Given the description of an element on the screen output the (x, y) to click on. 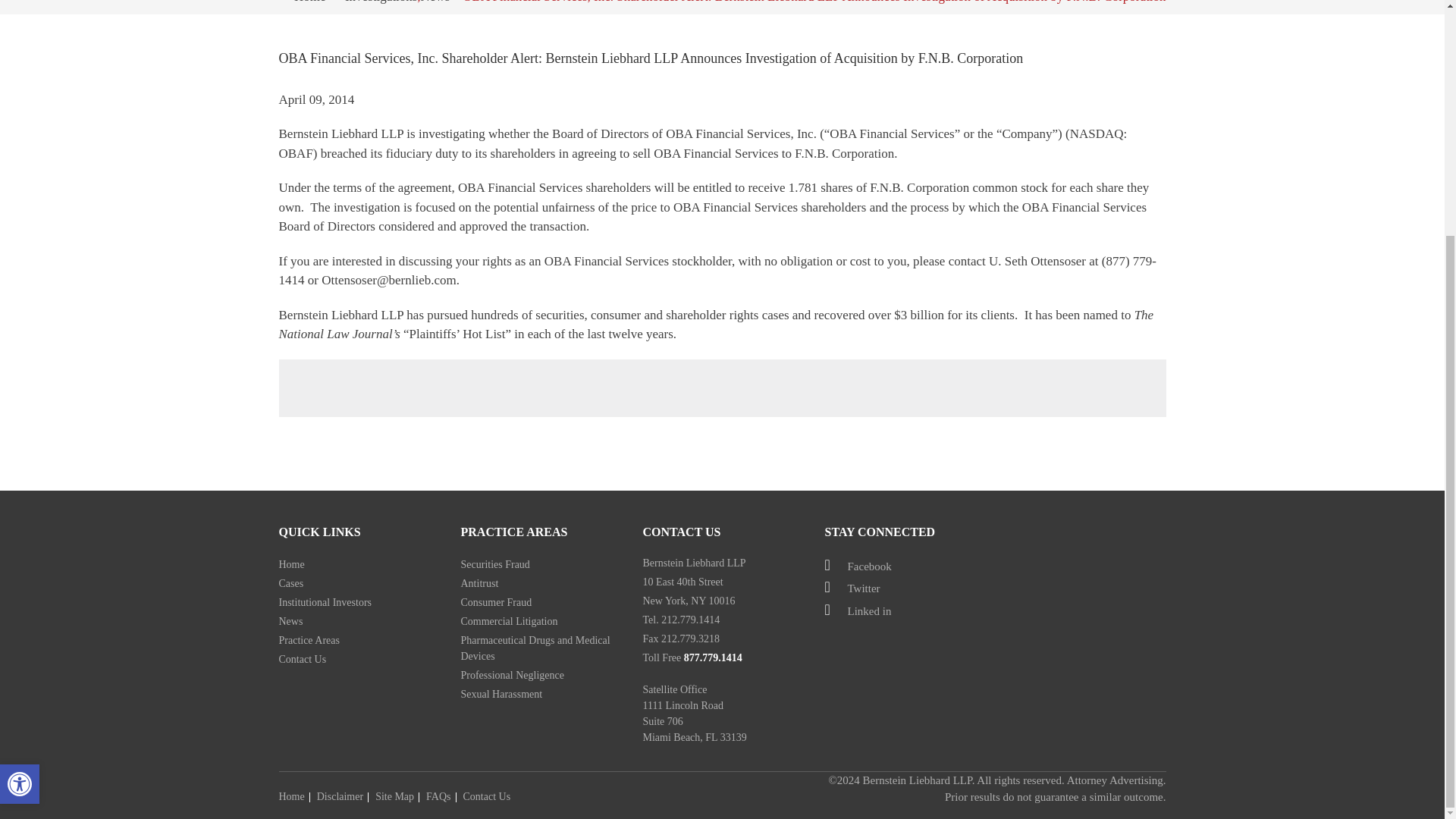
Cases (358, 582)
U. Seth Ottensoser (1037, 260)
Investigations (380, 2)
Home (310, 2)
Accessibility Tools (19, 462)
www.consumerinjurylawyers.com (615, 314)
Accessibility Tools (19, 462)
U. Seth Ottensoser (1037, 260)
Home (358, 564)
News (434, 2)
consumer (615, 314)
